Given the description of an element on the screen output the (x, y) to click on. 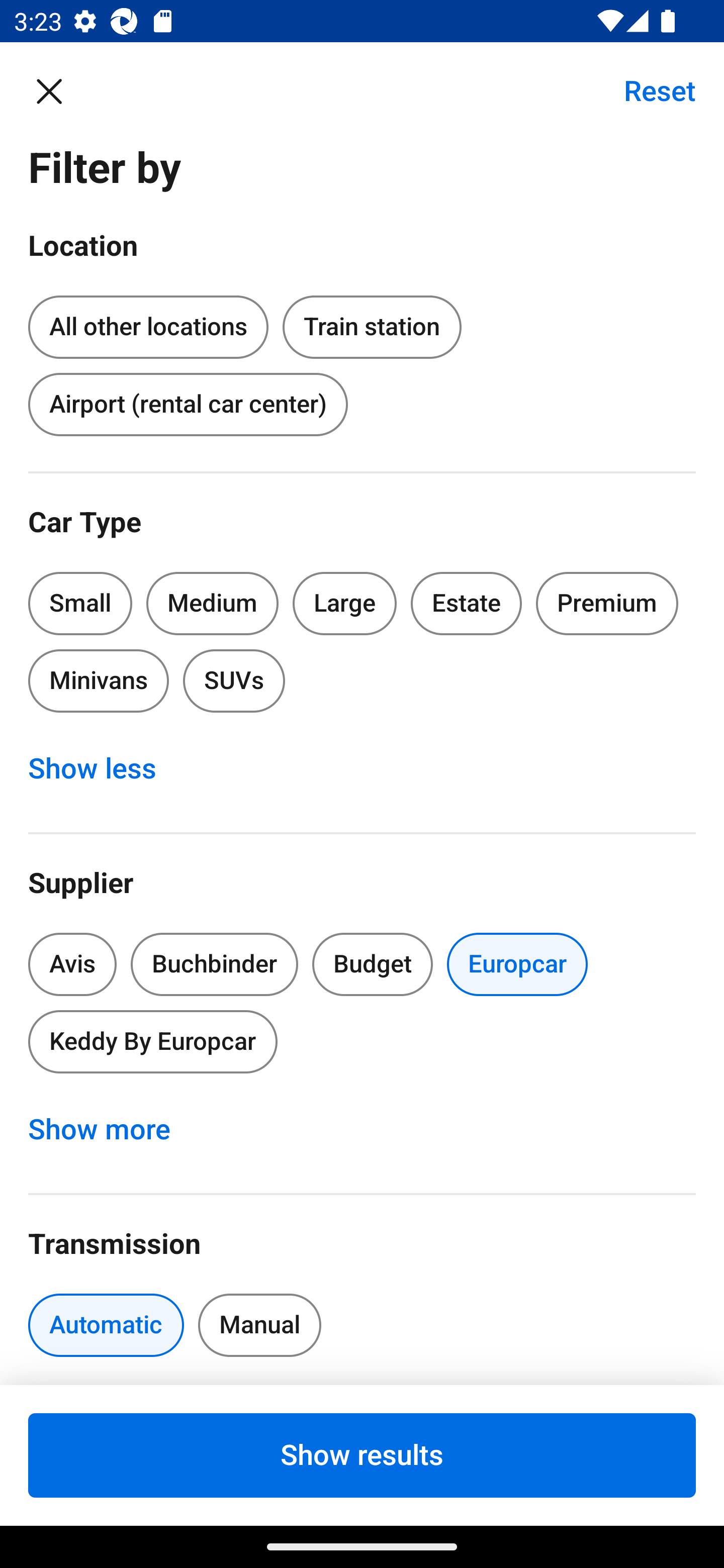
Close (59, 90)
Reset (649, 90)
All other locations (148, 323)
Train station (371, 327)
Airport (rental car center) (187, 404)
Small (80, 603)
Medium (212, 603)
Large (344, 603)
Estate (466, 603)
Premium (606, 603)
Minivans (98, 680)
SUVs (233, 680)
Show less (102, 767)
Avis (72, 963)
Buchbinder (214, 963)
Budget (372, 963)
Keddy By Europcar (152, 1041)
Show more (109, 1129)
Manual (259, 1324)
Show results (361, 1454)
